Given the description of an element on the screen output the (x, y) to click on. 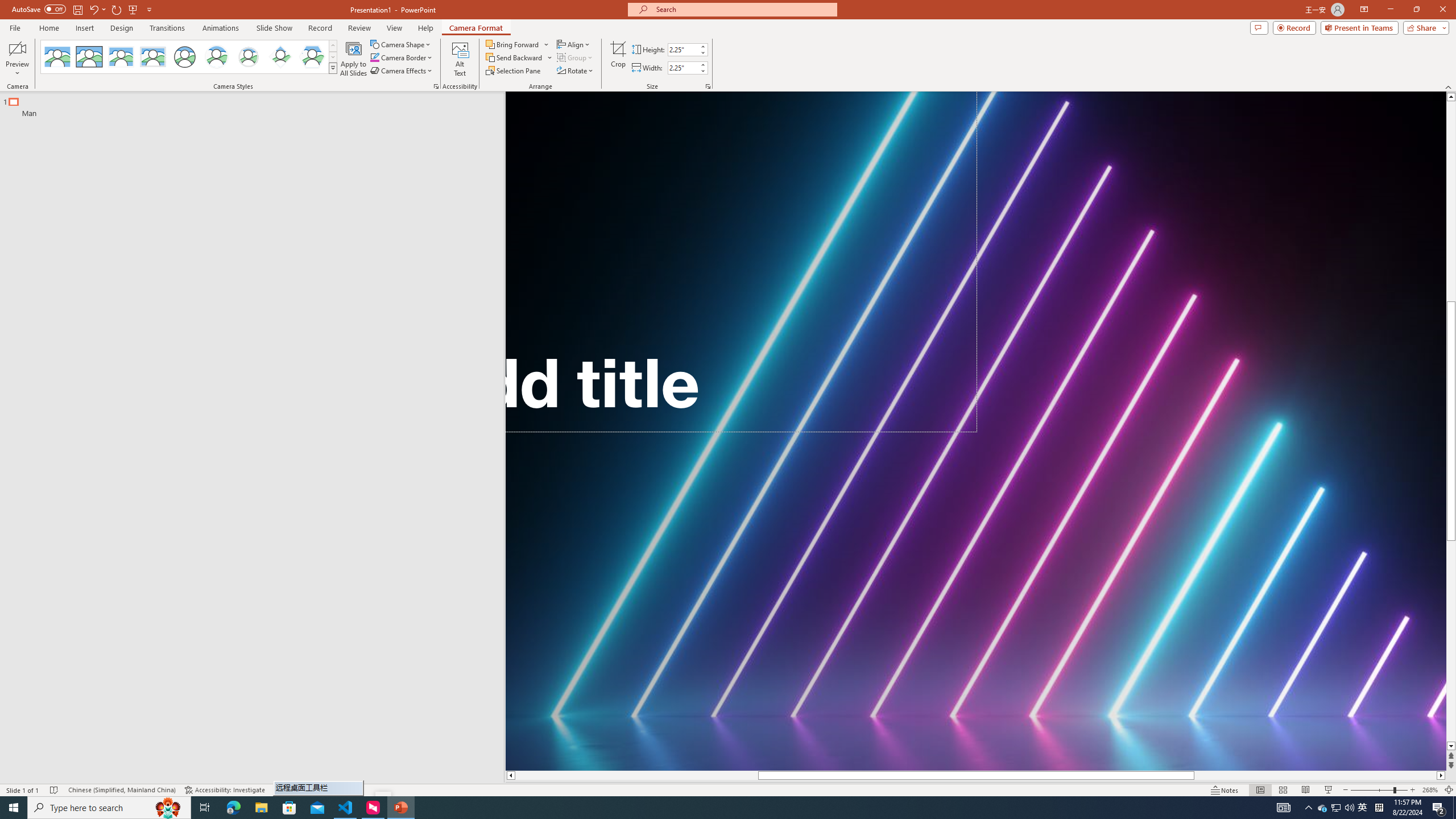
AutomationID: CameoStylesGallery (189, 56)
Cameo Width (682, 67)
Size and Position... (707, 85)
Bring Forward (517, 44)
Simple Frame Rectangle (88, 56)
